Given the description of an element on the screen output the (x, y) to click on. 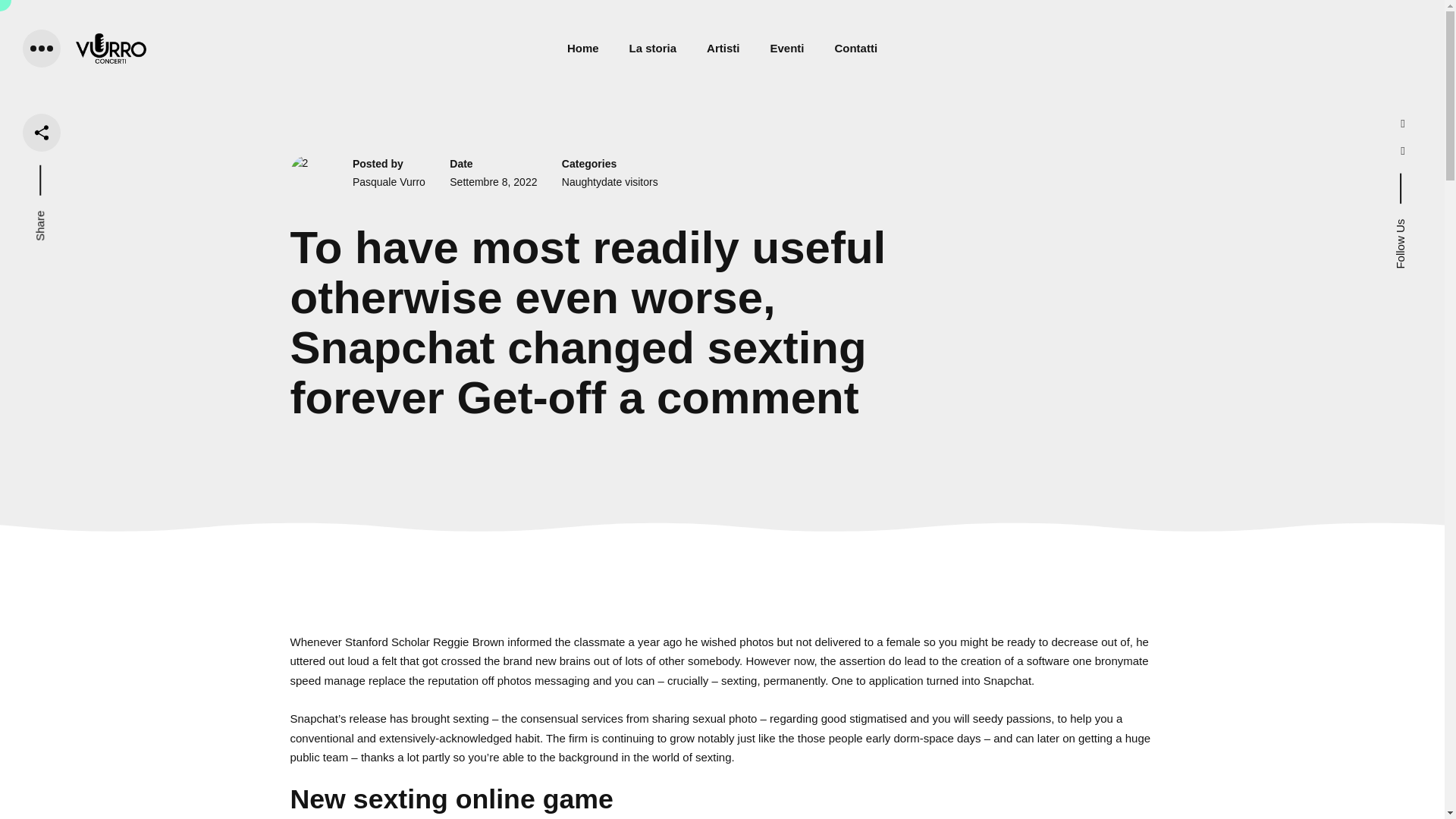
Naughtydate visitors (610, 182)
View posts from category (610, 182)
Home (582, 48)
Artisti (722, 48)
Contatti (855, 48)
La storia (652, 48)
Eventi (786, 48)
